Given the description of an element on the screen output the (x, y) to click on. 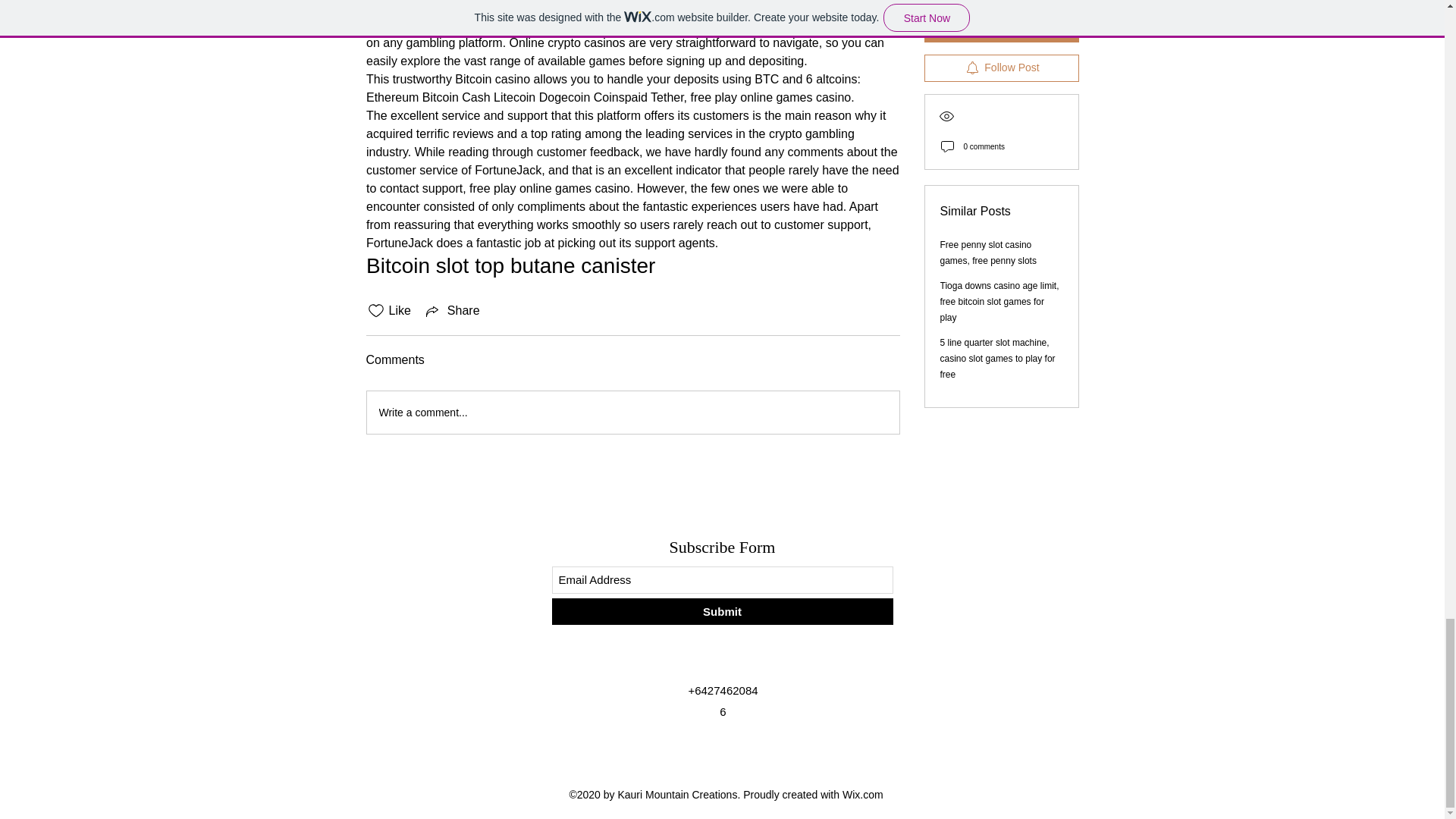
Write a comment... (632, 412)
Submit (722, 611)
Share (451, 311)
